Given the description of an element on the screen output the (x, y) to click on. 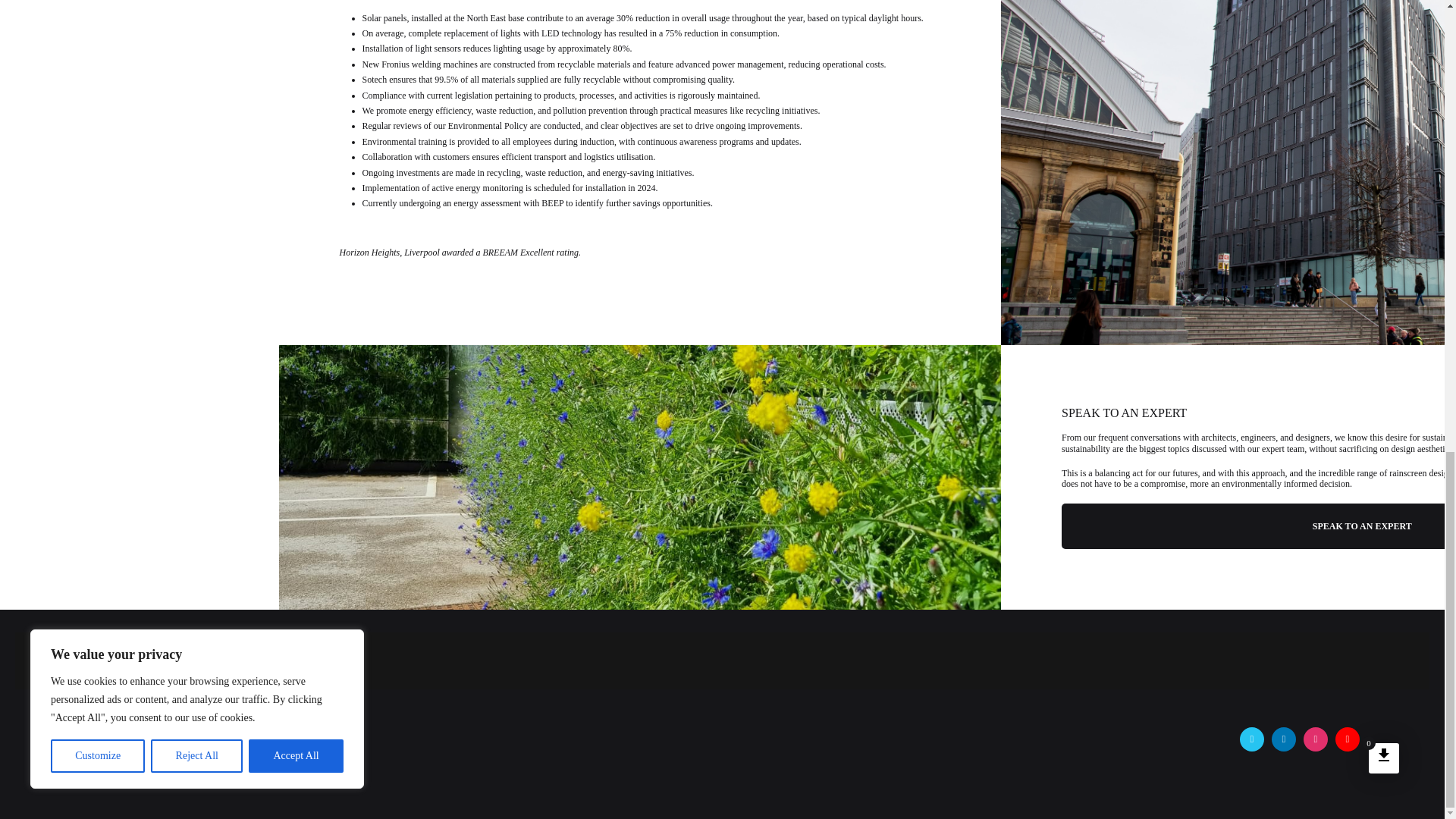
Linkedin (1283, 739)
Youtube (1347, 739)
Twitter (1251, 739)
Instagram (1315, 739)
